Given the description of an element on the screen output the (x, y) to click on. 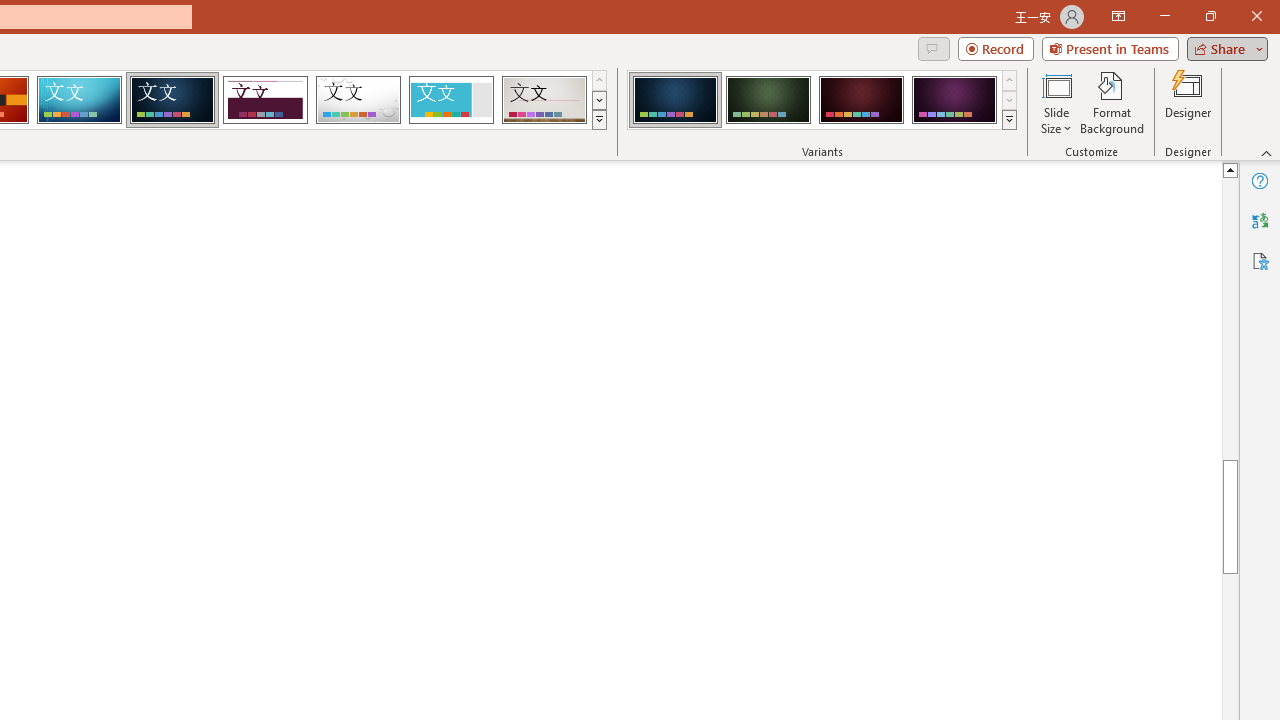
Variants (1009, 120)
Subtitle TextBox (712, 370)
